Given the description of an element on the screen output the (x, y) to click on. 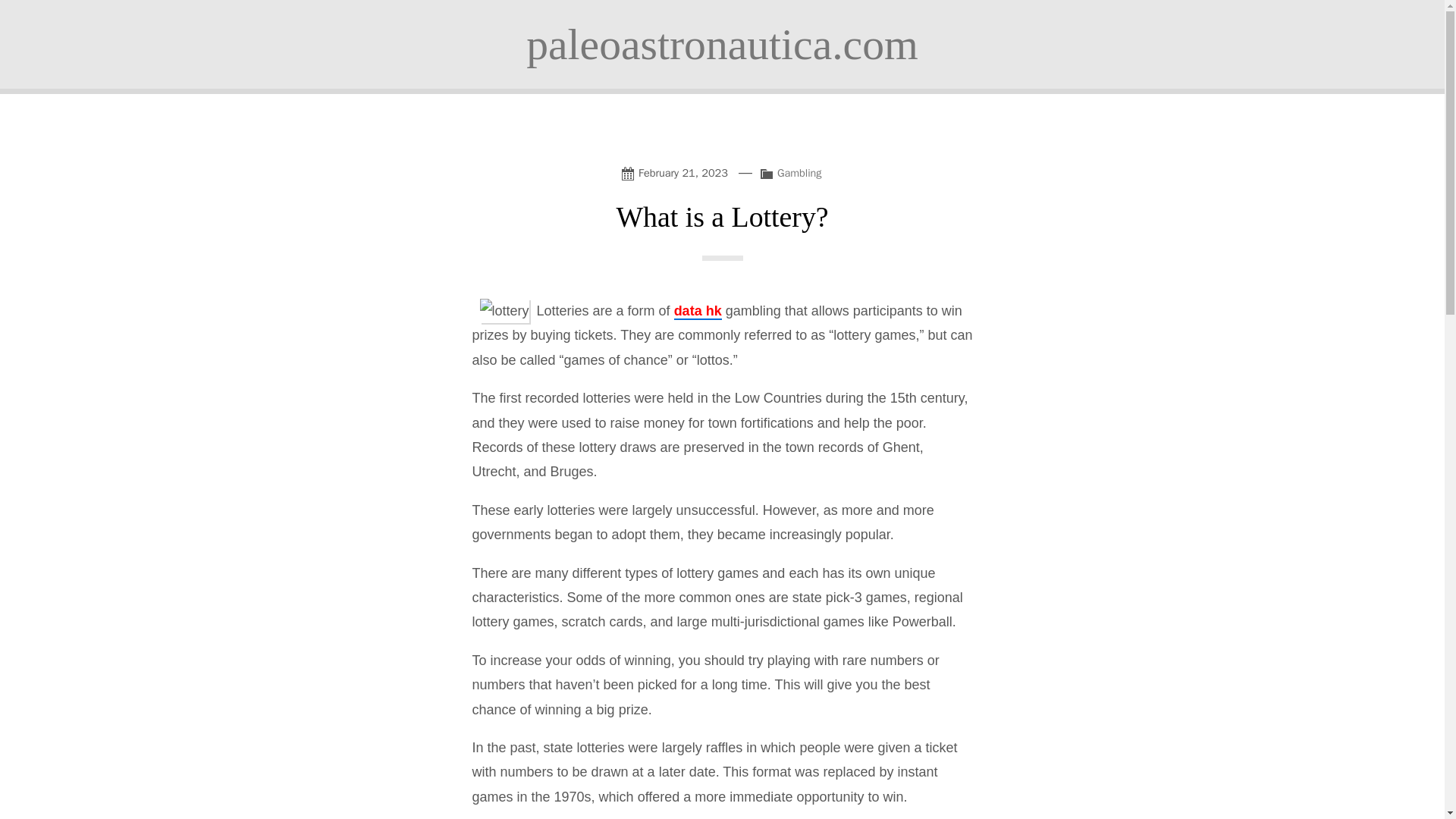
paleoastronautica.com (721, 43)
Gambling (799, 172)
data hk (698, 311)
